Given the description of an element on the screen output the (x, y) to click on. 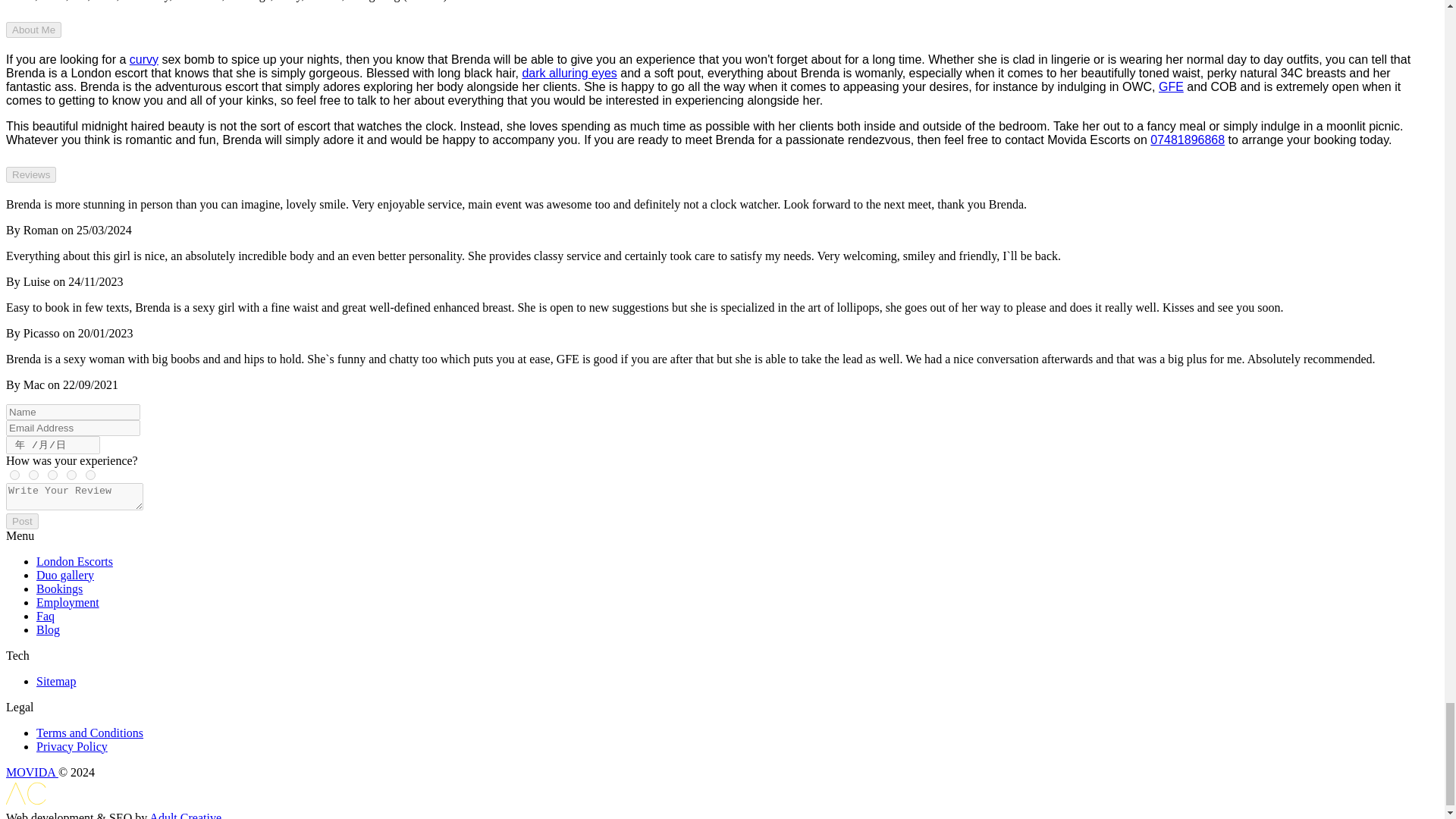
Post (22, 521)
5 (15, 474)
4 (34, 474)
3 (53, 474)
2 (71, 474)
MOVIDA Escort (31, 771)
1 (90, 474)
